Given the description of an element on the screen output the (x, y) to click on. 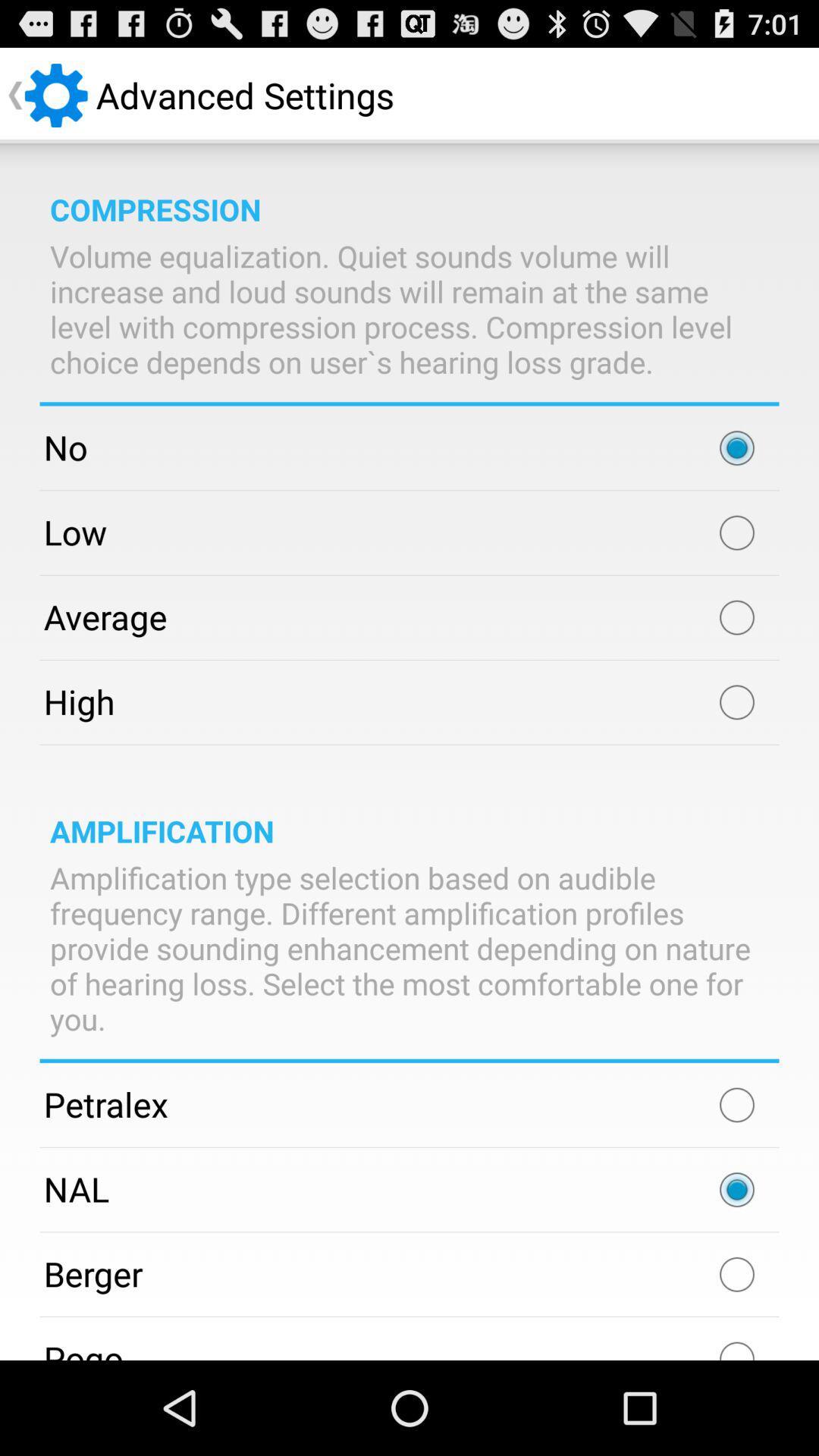
open item next to pogo app (736, 1343)
